Given the description of an element on the screen output the (x, y) to click on. 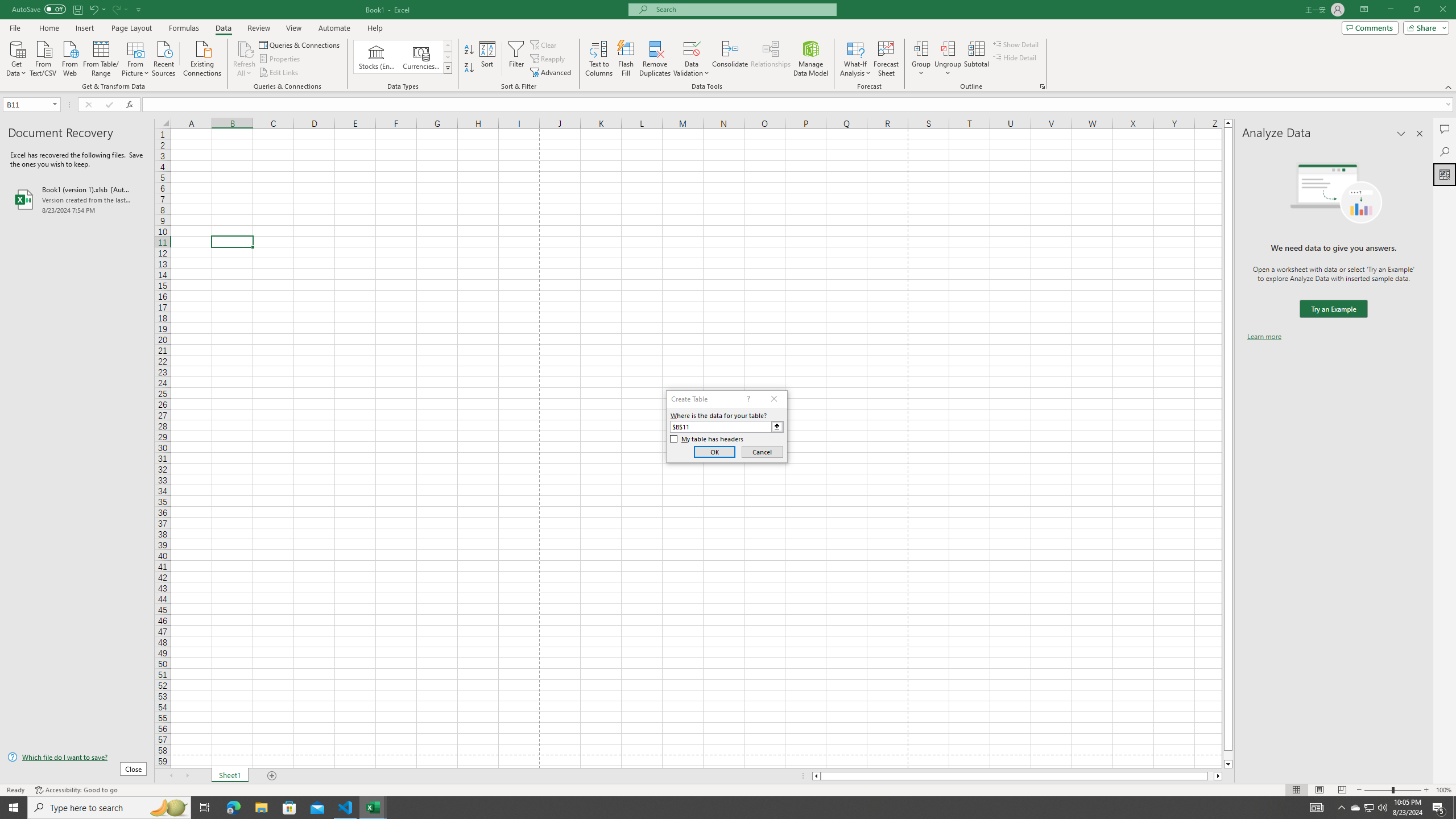
From Picture (135, 57)
Sort... (487, 58)
Row Down (448, 56)
System (6, 6)
Formulas (184, 28)
We need data to give you answers. Try an Example (1333, 308)
Sort Z to A (469, 67)
Microsoft search (742, 9)
Group... (921, 48)
Column left (815, 775)
From Text/CSV (43, 57)
Comments (1369, 27)
Page down (1228, 755)
Get Data (16, 57)
Class: NetUIImage (447, 68)
